Given the description of an element on the screen output the (x, y) to click on. 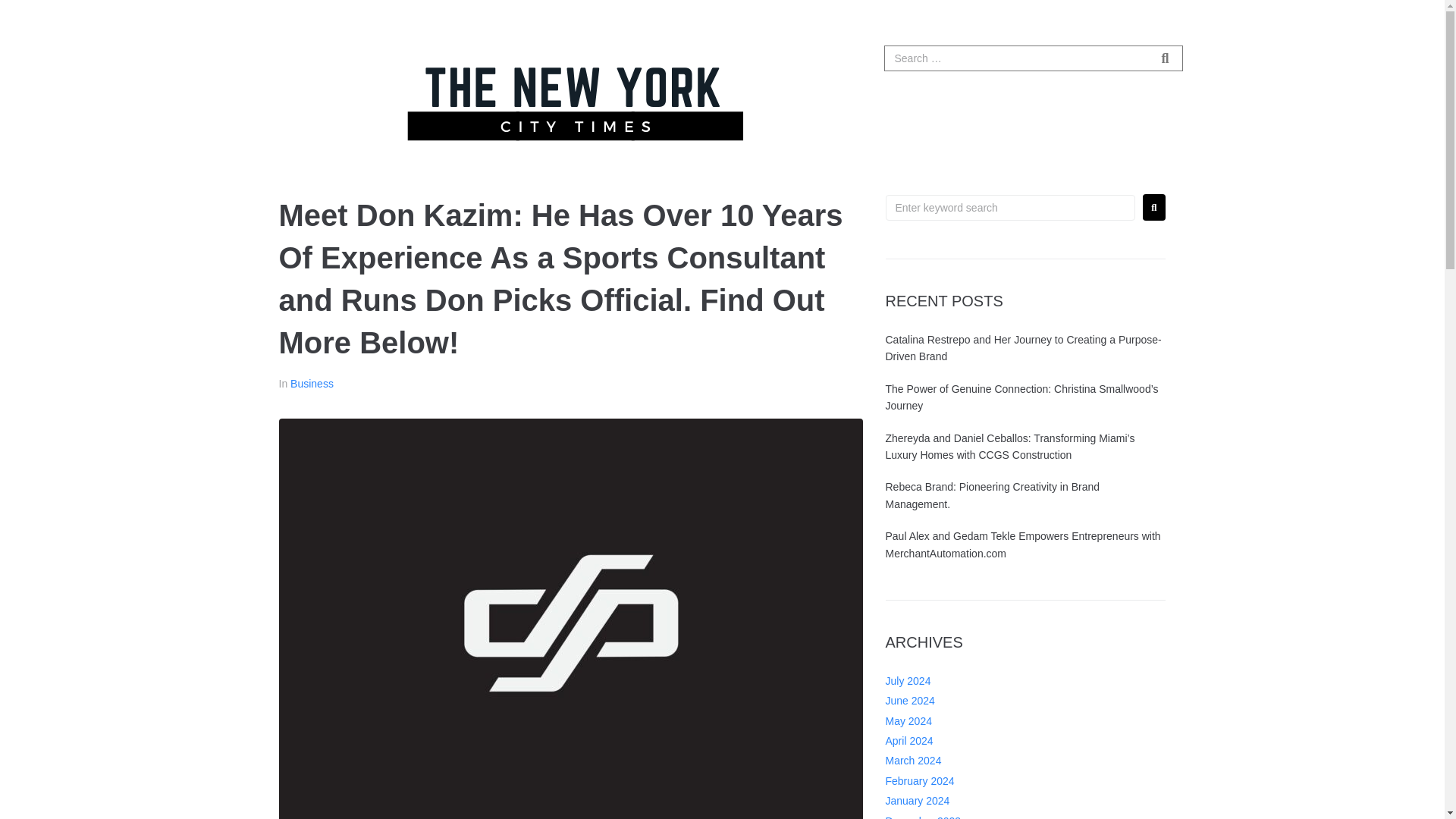
March 2024 (913, 760)
April 2024 (909, 740)
June 2024 (909, 700)
July 2024 (908, 680)
February 2024 (920, 780)
May 2024 (908, 720)
Rebeca Brand: Pioneering Creativity in Brand Management. (992, 494)
January 2024 (917, 800)
